Given the description of an element on the screen output the (x, y) to click on. 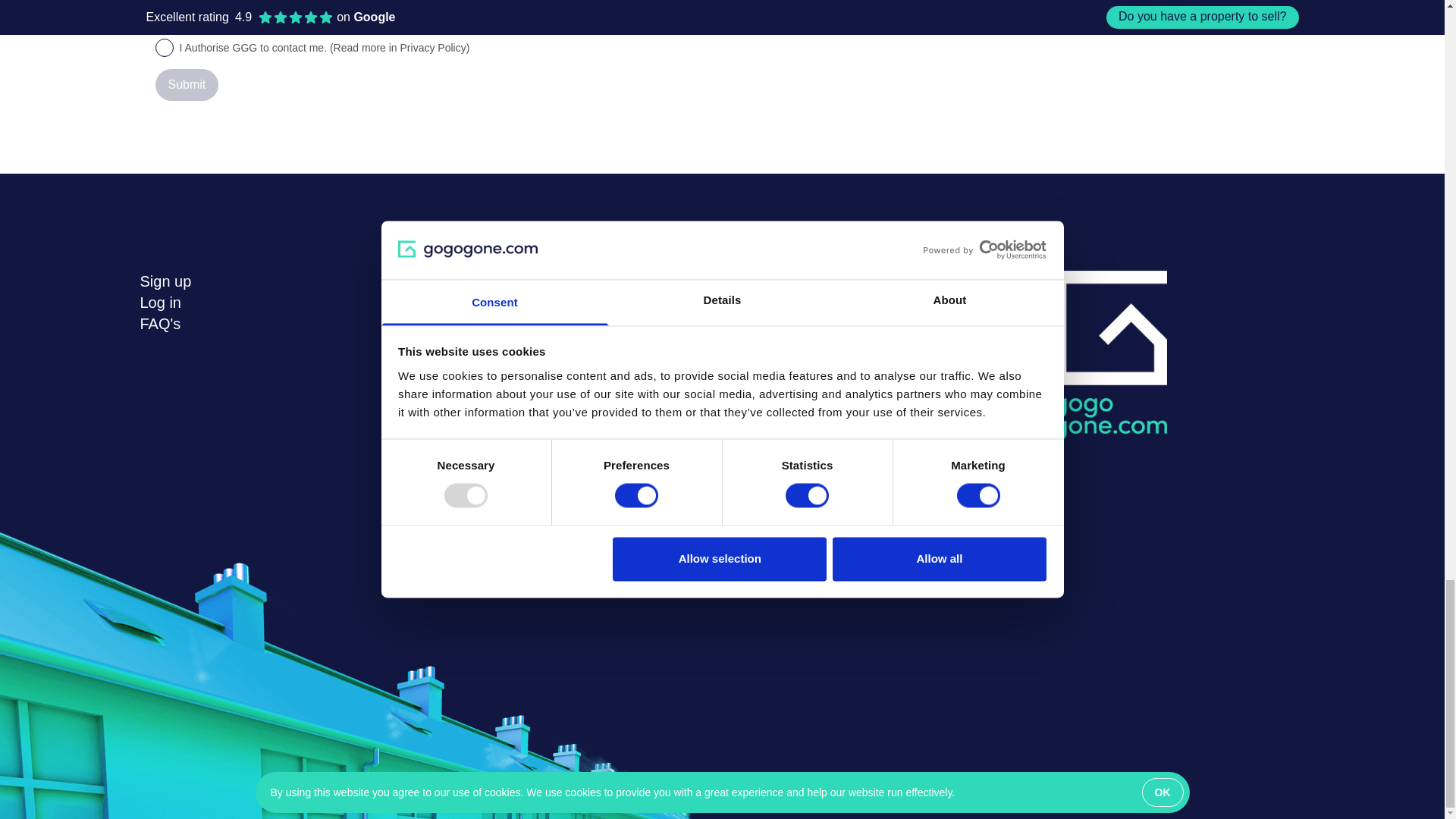
on (163, 47)
